Given the description of an element on the screen output the (x, y) to click on. 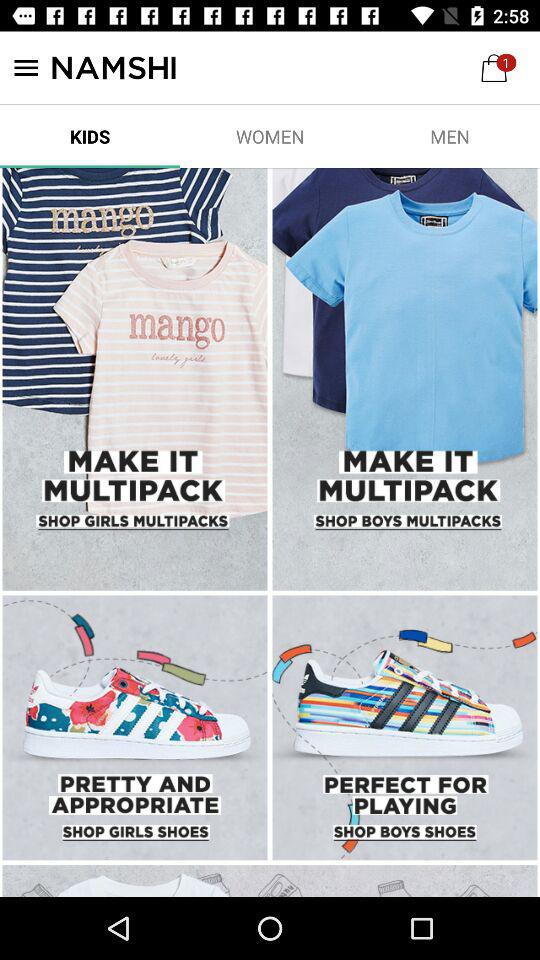
open men icon (450, 136)
